Given the description of an element on the screen output the (x, y) to click on. 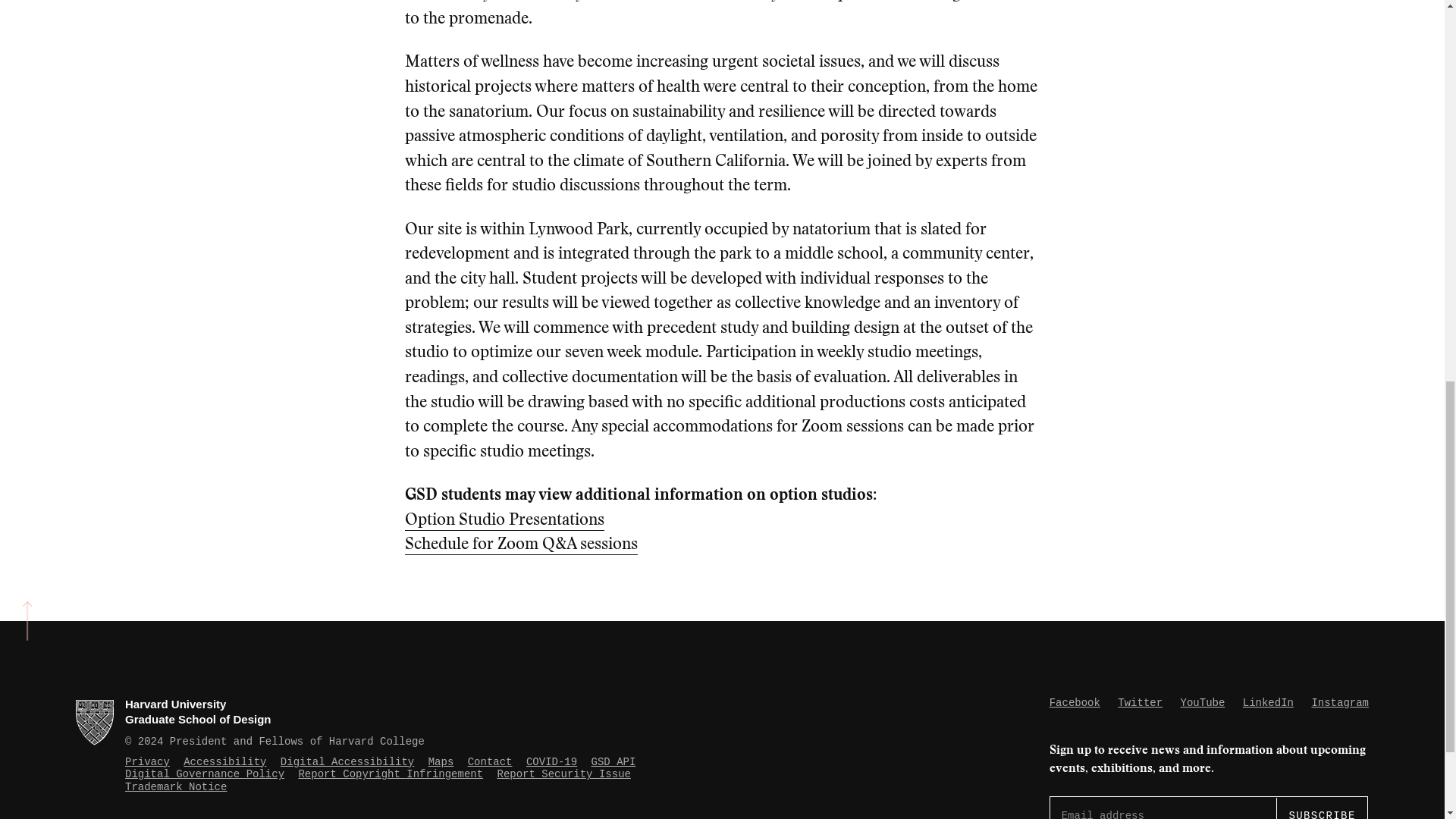
Subscribe (1321, 807)
